Given the description of an element on the screen output the (x, y) to click on. 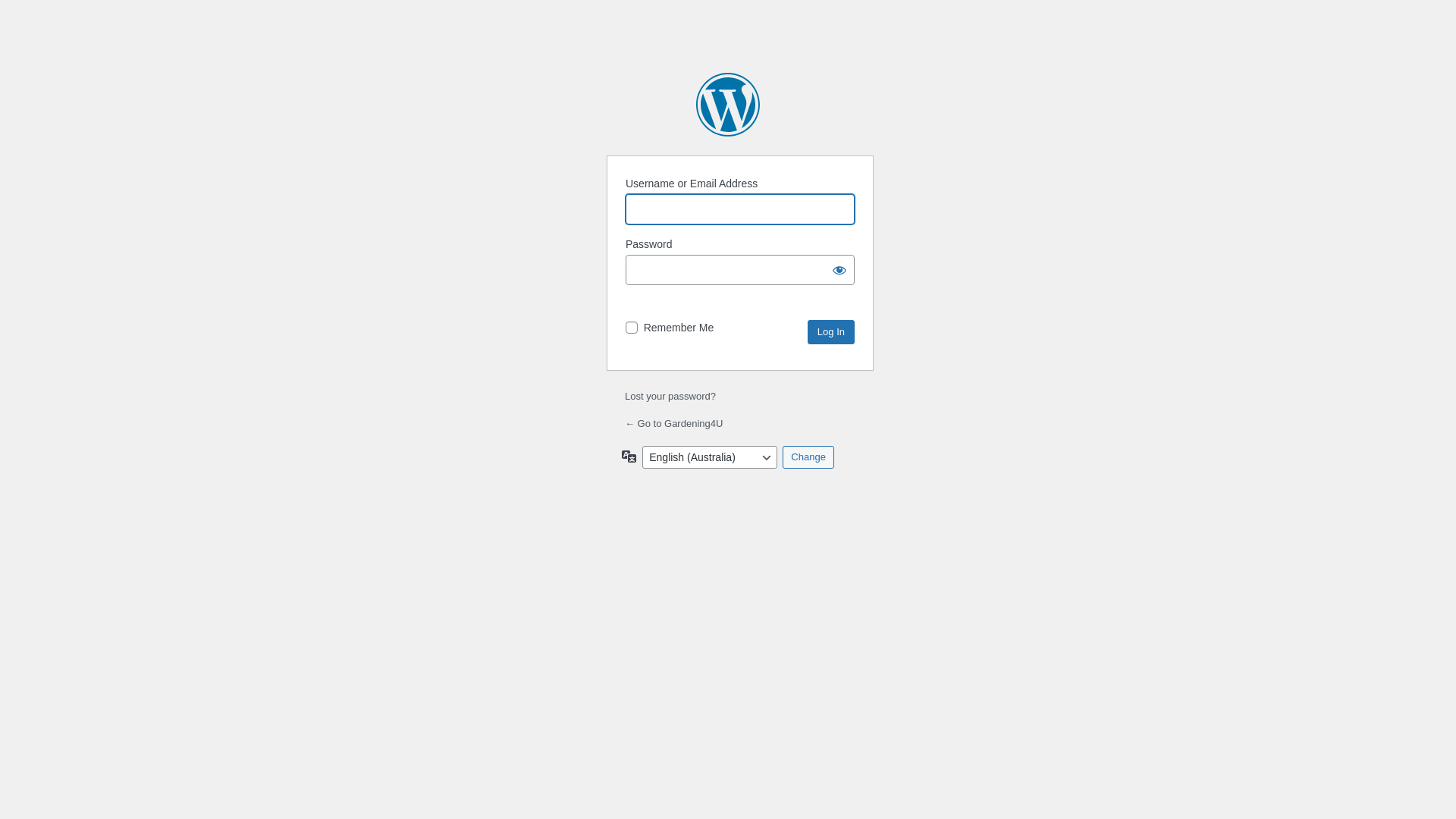
Log In Element type: text (830, 332)
Lost your password? Element type: text (669, 395)
Powered by WordPress Element type: text (727, 104)
Change Element type: text (808, 456)
